Given the description of an element on the screen output the (x, y) to click on. 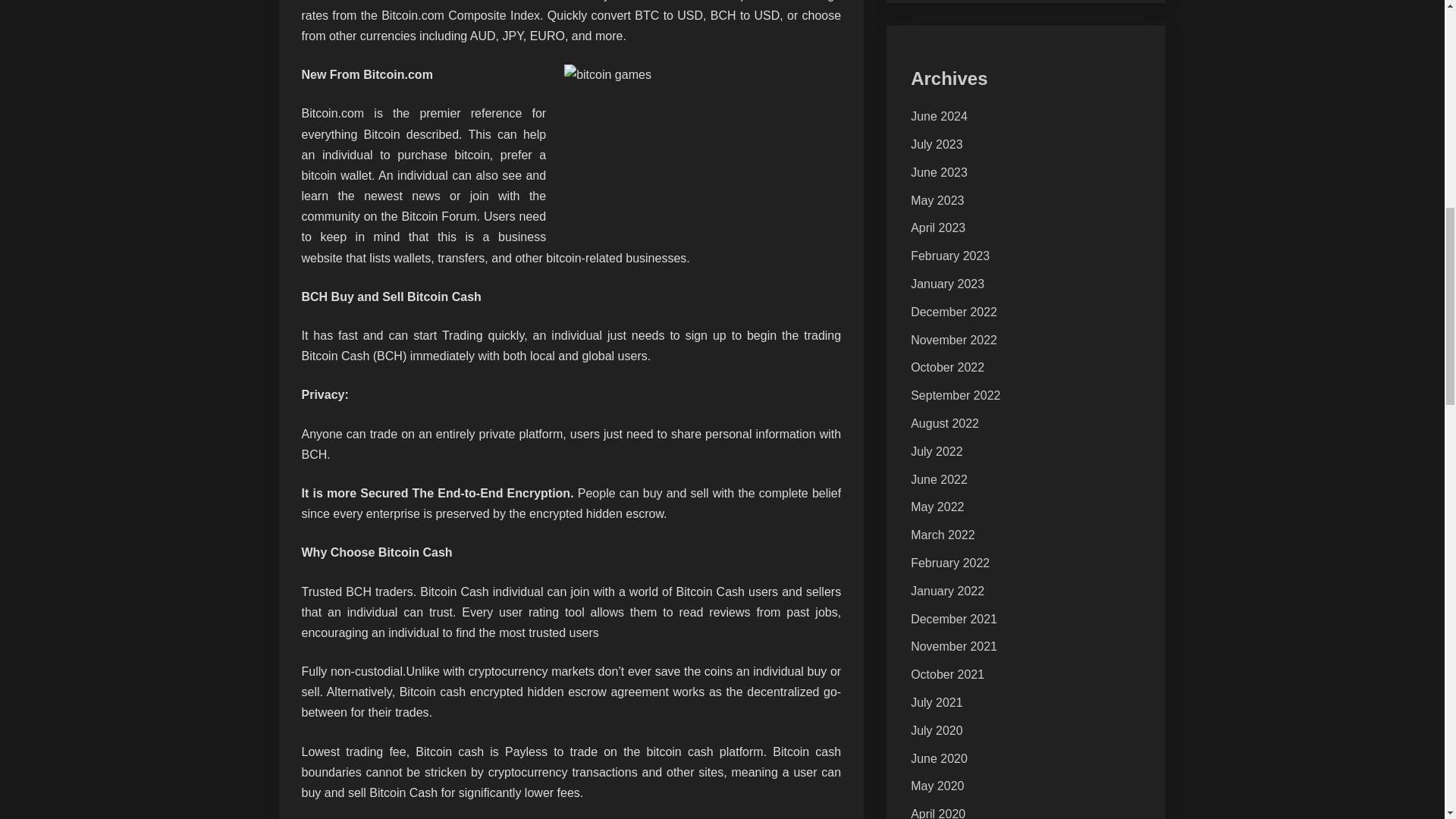
June 2024 (939, 115)
July 2023 (936, 144)
